Given the description of an element on the screen output the (x, y) to click on. 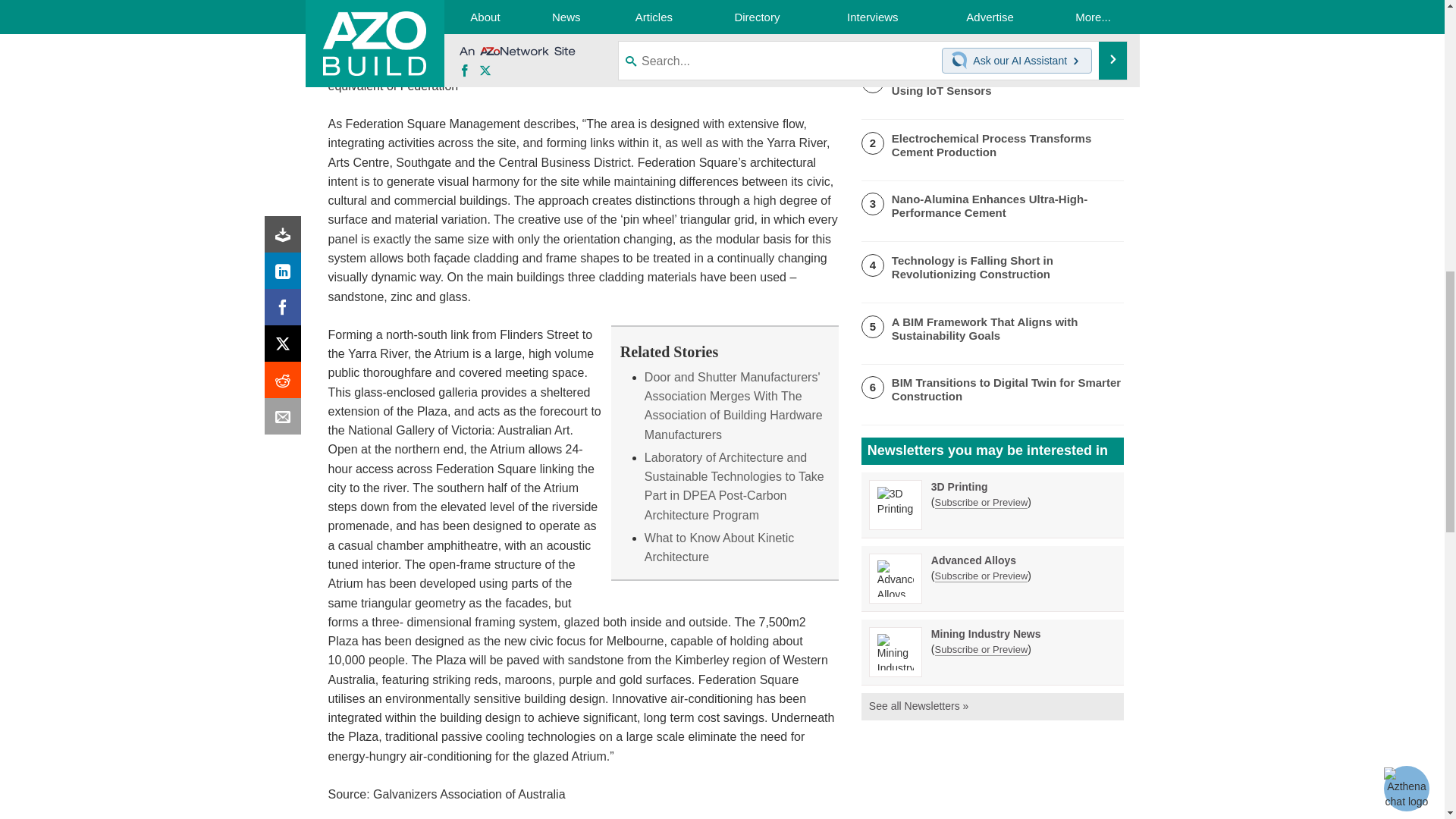
What to Know About Kinetic Architecture (719, 547)
